Given the description of an element on the screen output the (x, y) to click on. 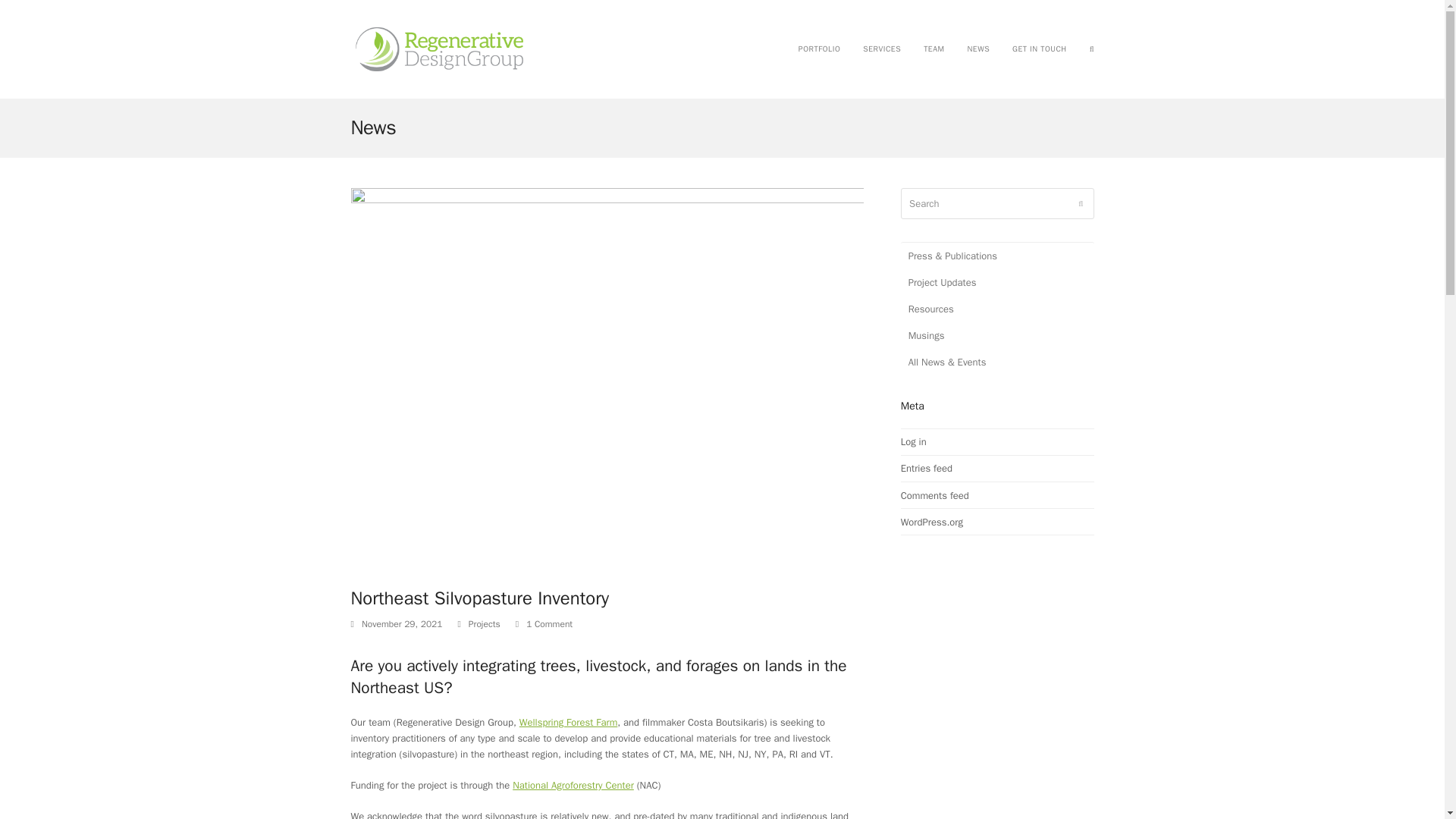
Wellspring Forest Farm (568, 721)
Musings (997, 335)
Log in (913, 440)
Entries feed (926, 468)
1 Comment (548, 624)
1 Comment (543, 624)
National Agroforestry Center (572, 784)
Resources (997, 308)
Projects (484, 623)
Project Updates (997, 282)
